Given the description of an element on the screen output the (x, y) to click on. 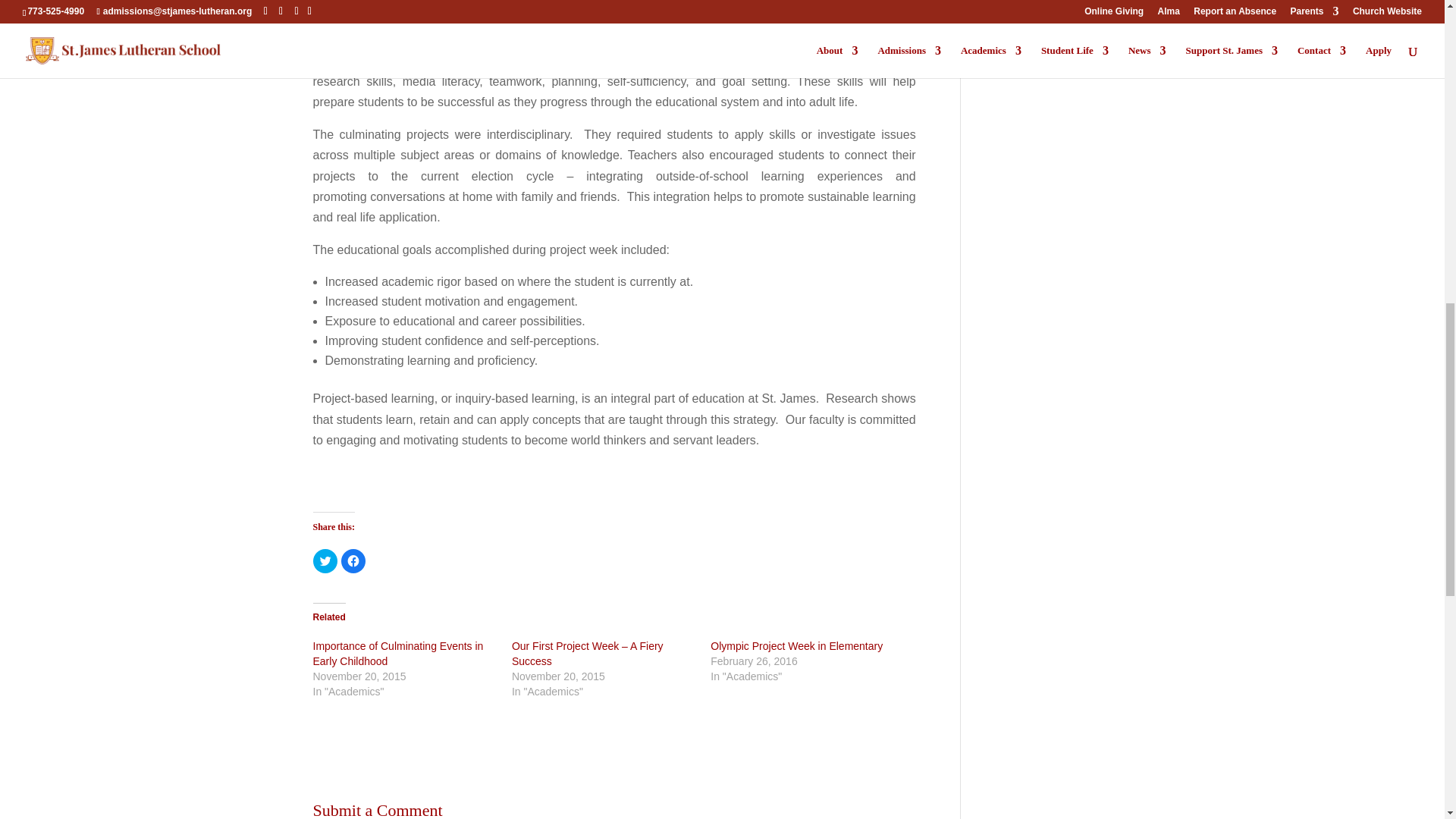
Importance of Culminating Events in Early Childhood (398, 653)
Olympic Project Week in Elementary (796, 645)
Click to share on Facebook (352, 560)
Click to share on Twitter (324, 560)
